Given the description of an element on the screen output the (x, y) to click on. 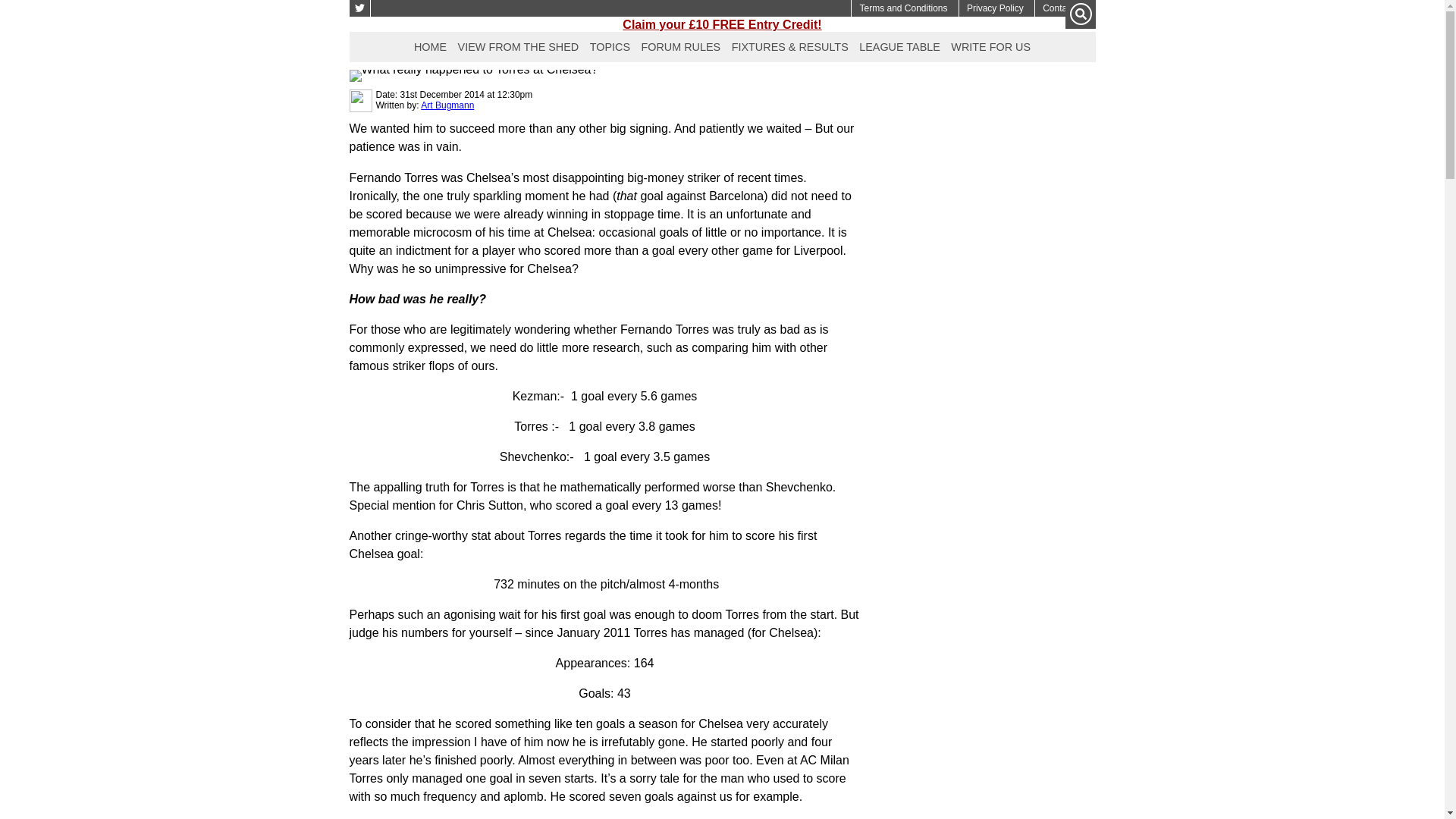
Posts by Art Bugmann (447, 104)
HOME (429, 44)
FORUM RULES (680, 44)
Terms and Conditions (903, 8)
TOPICS (609, 44)
LEAGUE TABLE (899, 44)
VIEW FROM THE SHED (518, 44)
Privacy Policy (994, 8)
Contact Us (1064, 8)
Art Bugmann (447, 104)
WRITE FOR US (990, 44)
